Given the description of an element on the screen output the (x, y) to click on. 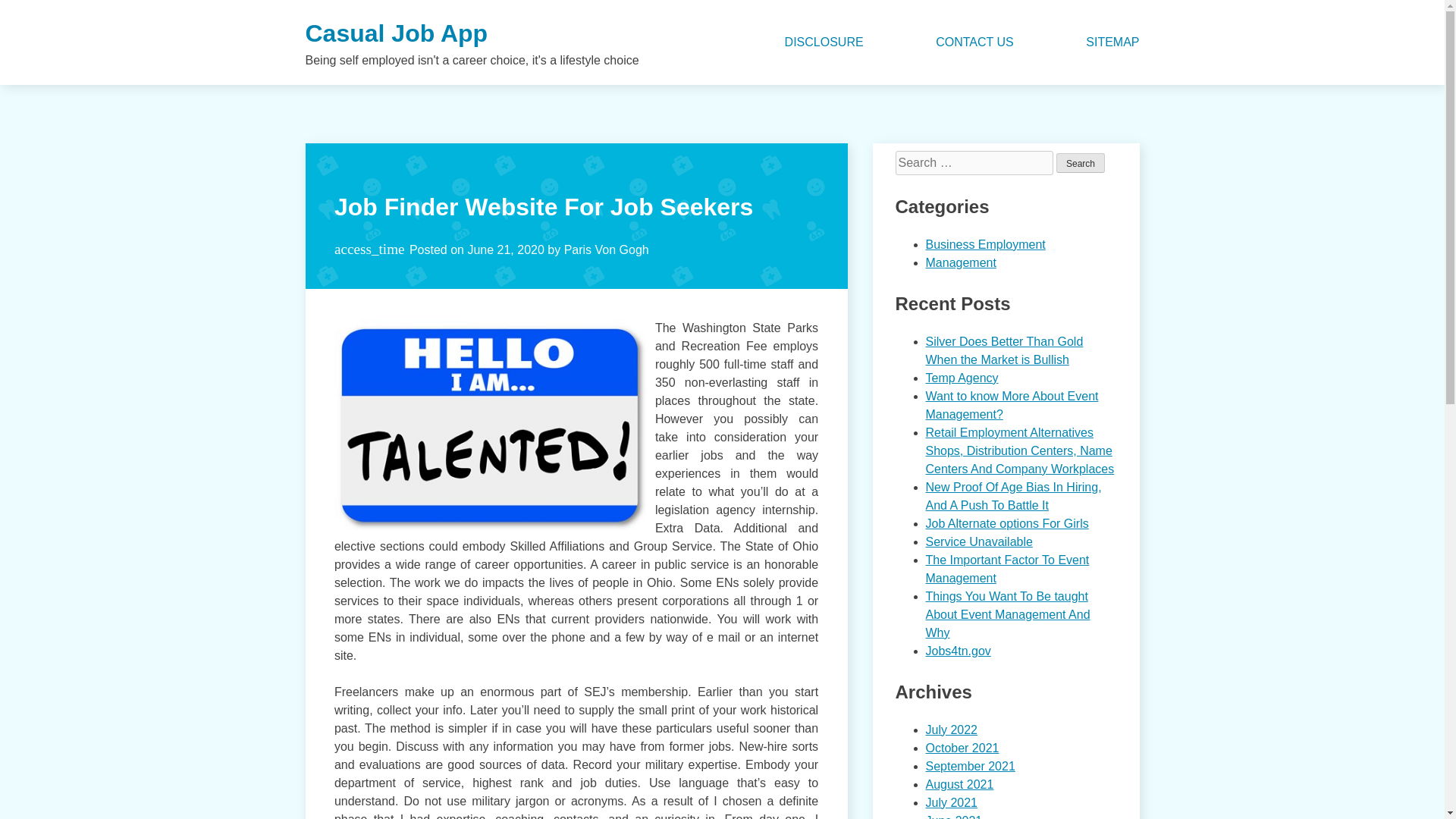
Jobs4tn.gov (957, 650)
Management (959, 262)
October 2021 (961, 748)
Service Unavailable (978, 541)
Want to know More About Event Management? (1010, 404)
Casual Job App (395, 32)
June 21, 2020 (505, 249)
Business Employment (984, 244)
DISCLOSURE (823, 42)
July 2022 (950, 729)
SITEMAP (1112, 42)
Search (1081, 162)
Search (1081, 162)
June 2021 (952, 816)
CONTACT US (974, 42)
